Given the description of an element on the screen output the (x, y) to click on. 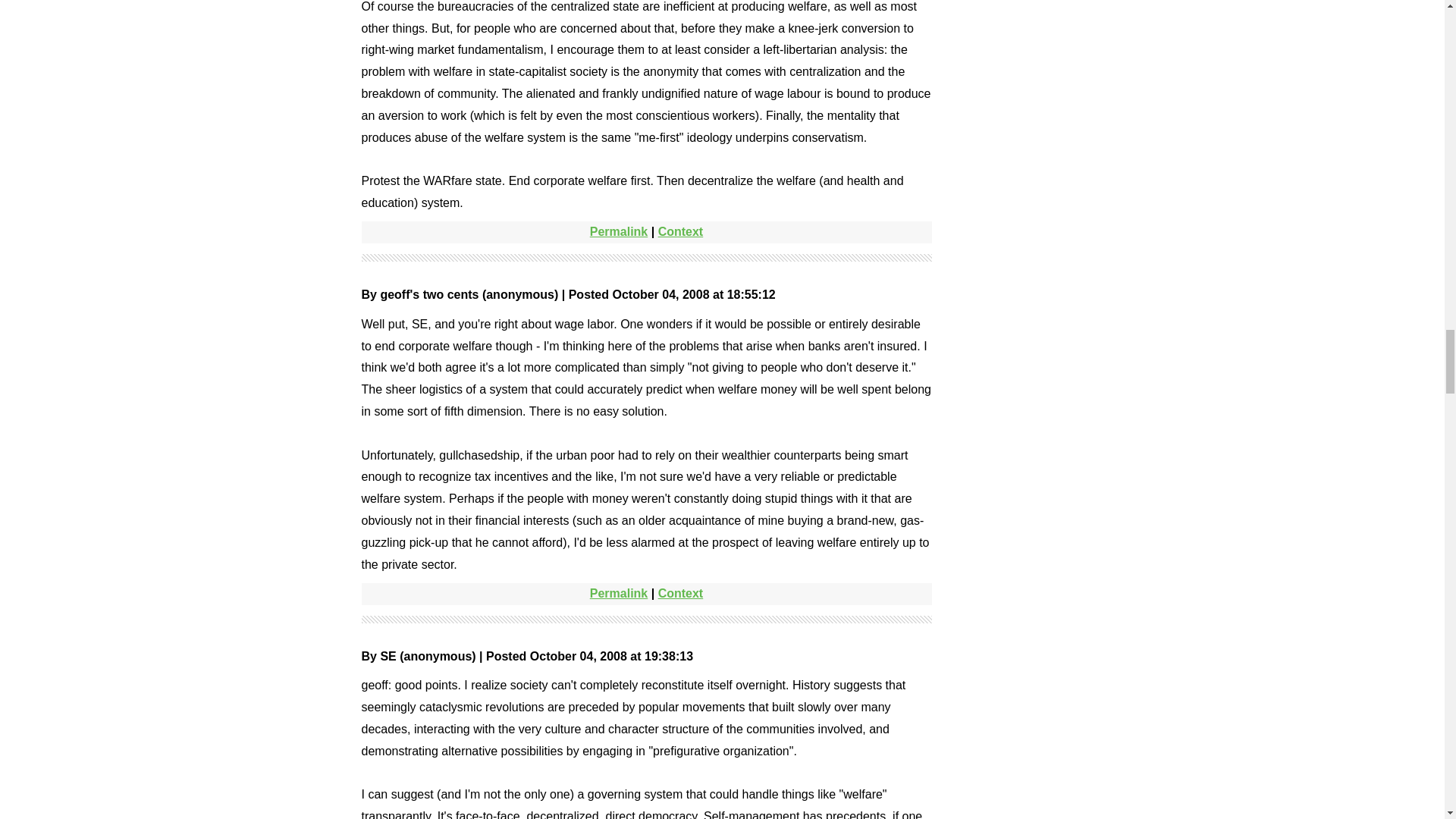
Context (680, 231)
Permalink (618, 231)
Permalink (618, 593)
Context (680, 593)
Permanent URL for this comment (618, 231)
Link to this comment in the comment thread (680, 231)
